Given the description of an element on the screen output the (x, y) to click on. 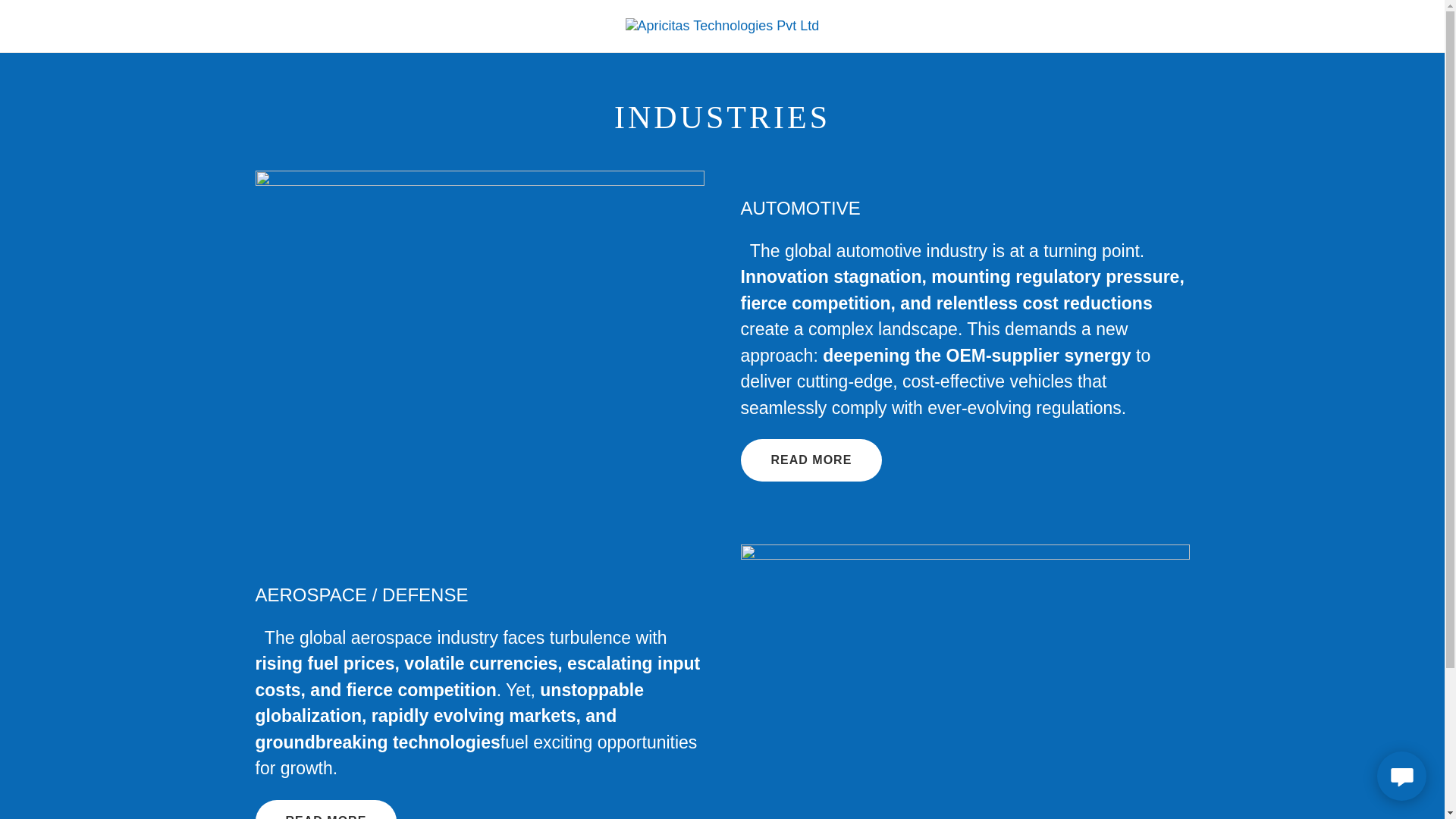
READ MORE (325, 809)
Apricitas Technologies Pvt Ltd (722, 24)
READ MORE (810, 459)
